Given the description of an element on the screen output the (x, y) to click on. 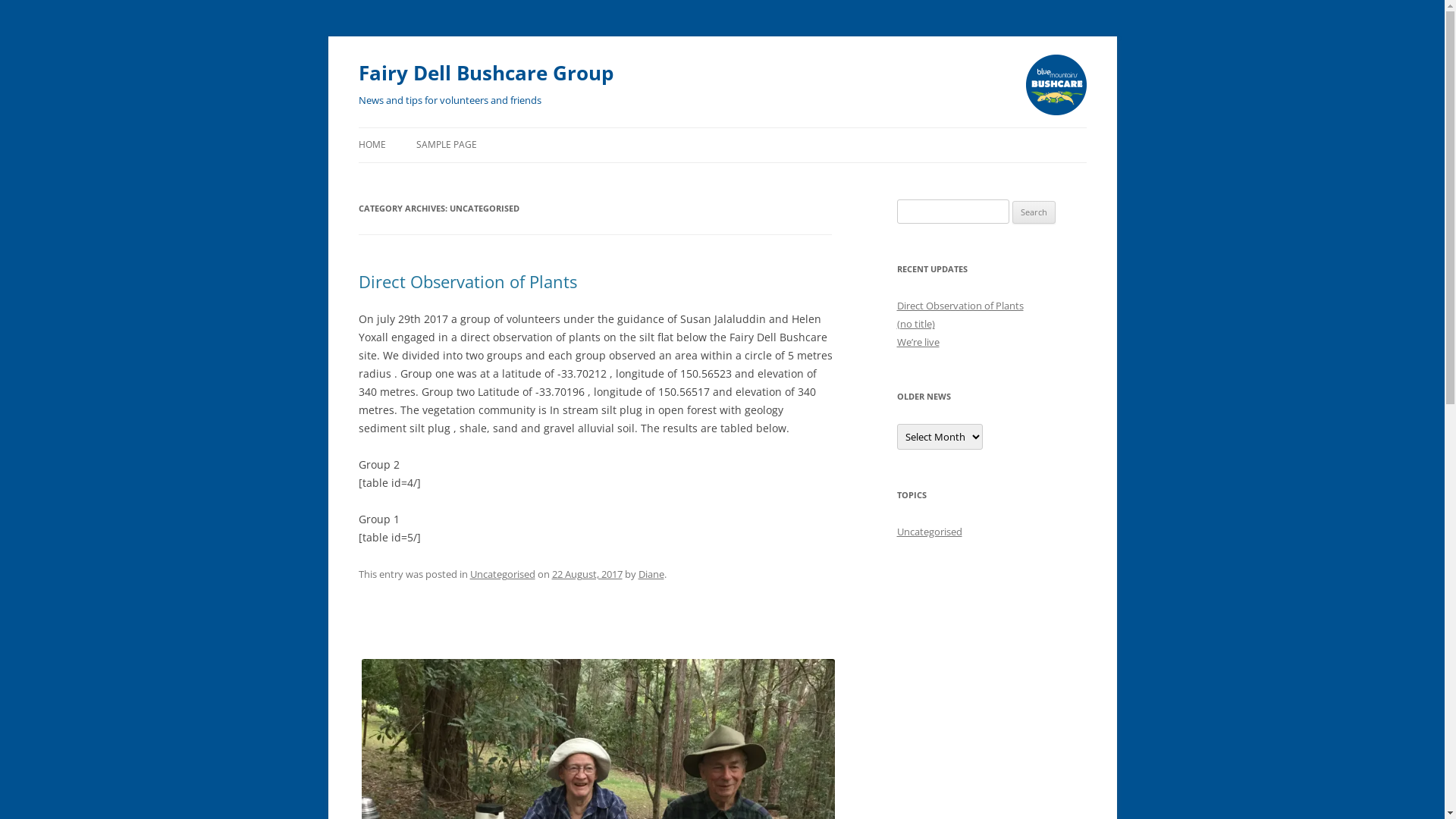
HOME Element type: text (371, 144)
SAMPLE PAGE Element type: text (445, 144)
Direct Observation of Plants Element type: text (466, 280)
Uncategorised Element type: text (502, 573)
Skip to content Element type: text (357, 145)
Fairy Dell Bushcare Group Element type: text (484, 72)
Uncategorised Element type: text (928, 531)
22 August, 2017 Element type: text (587, 573)
Diane Element type: text (651, 573)
Direct Observation of Plants Element type: text (959, 305)
(no title) Element type: text (915, 323)
Search Element type: text (1033, 211)
